Given the description of an element on the screen output the (x, y) to click on. 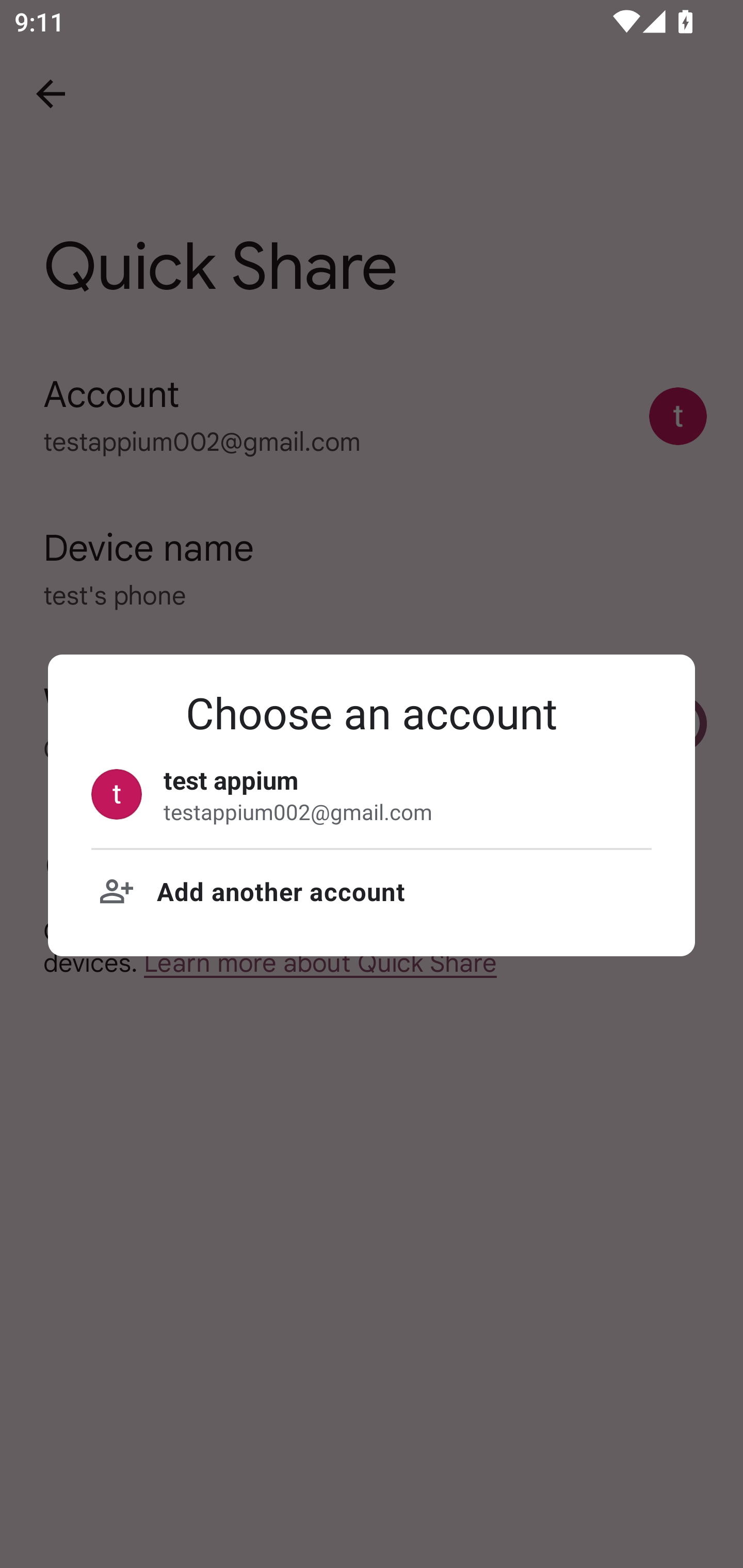
test appium testappium002@gmail.com (371, 794)
Add another account (371, 891)
